Given the description of an element on the screen output the (x, y) to click on. 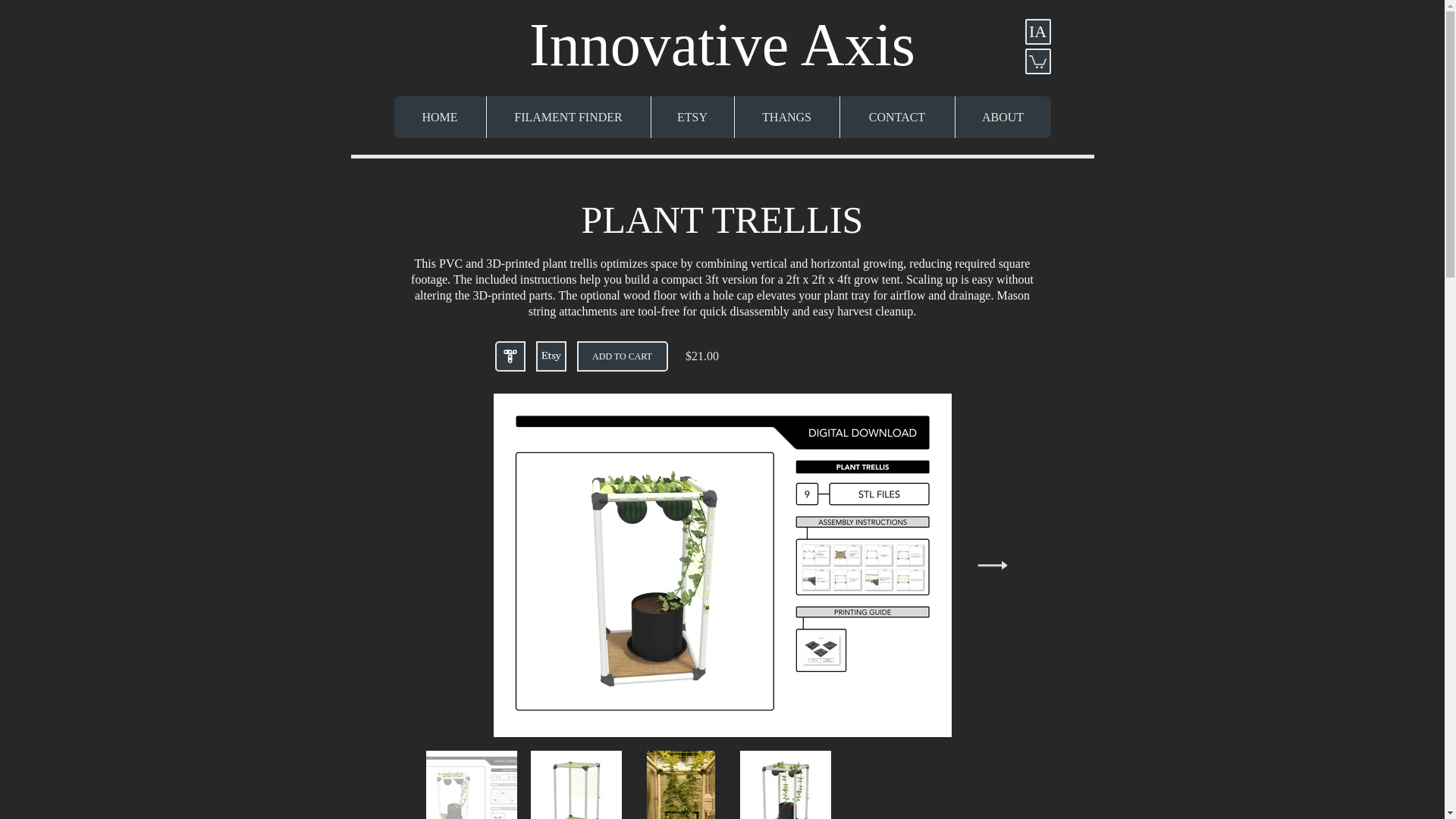
ABOUT (1001, 117)
FILAMENT FINDER (566, 117)
IA (1038, 31)
THANGS (786, 117)
ADD TO CART (621, 356)
CONTACT (895, 117)
ETSY (691, 117)
HOME (440, 117)
